Given the description of an element on the screen output the (x, y) to click on. 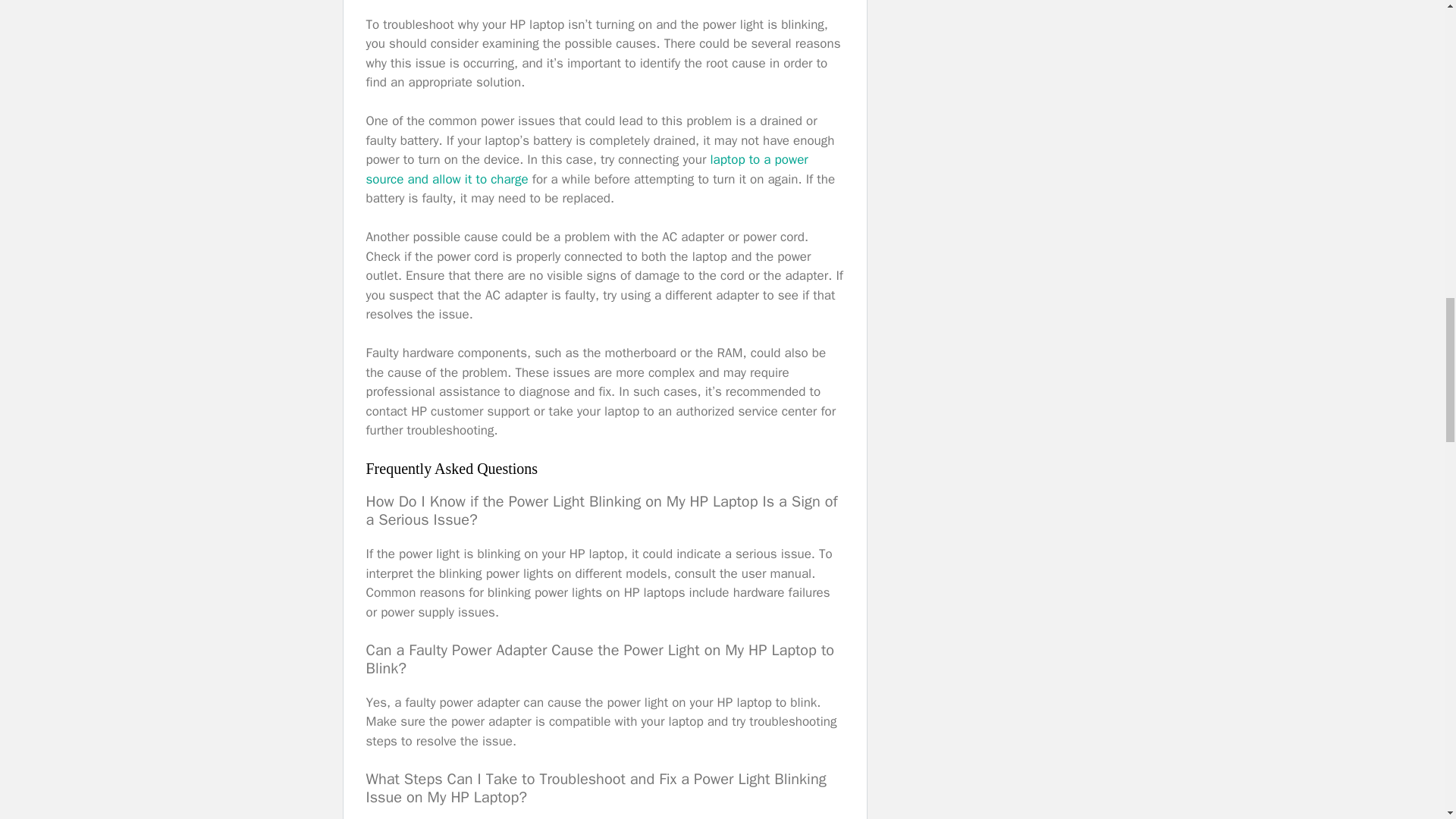
laptop to a power source and allow it to charge (586, 169)
